Given the description of an element on the screen output the (x, y) to click on. 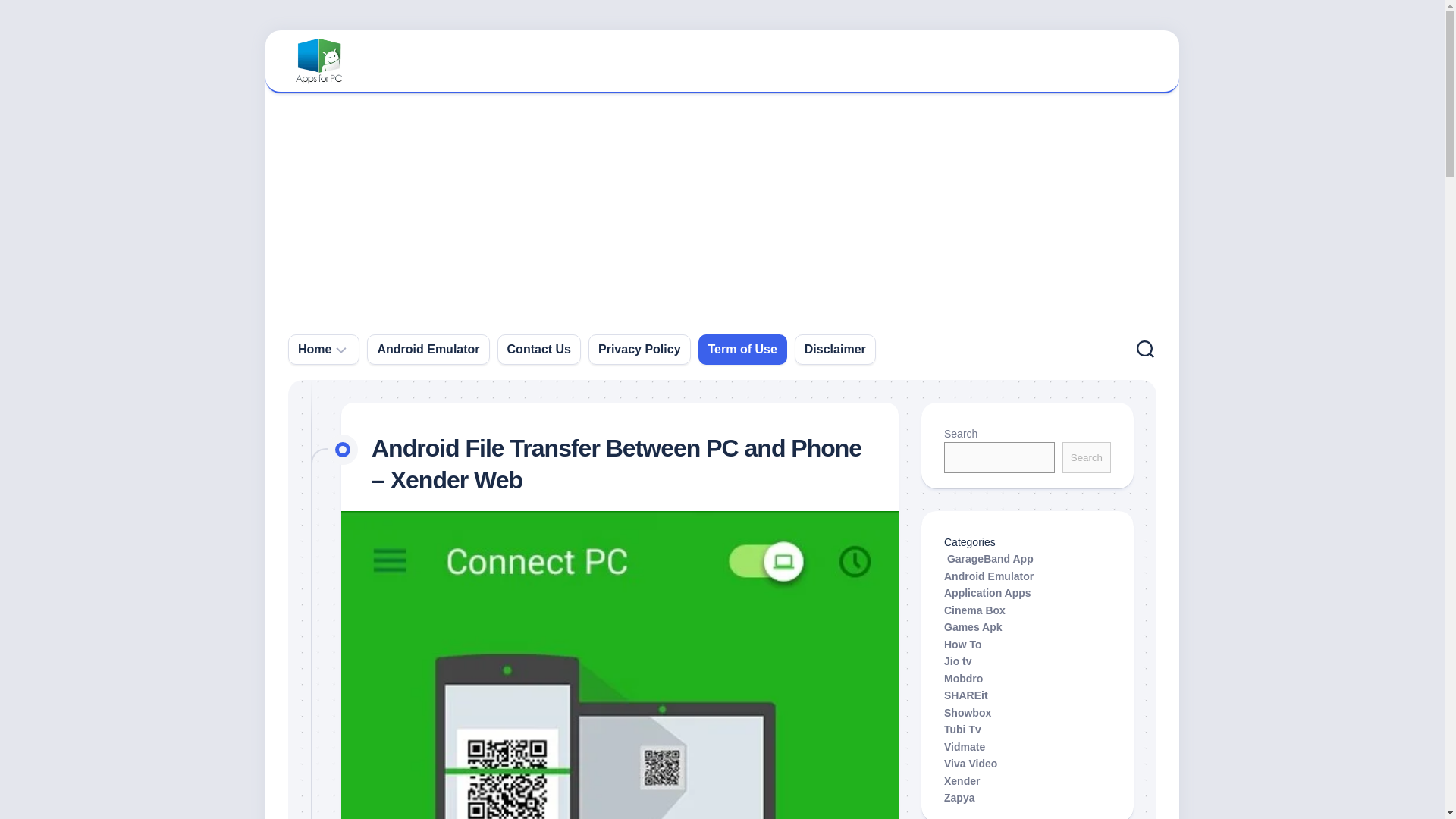
Android Emulator (428, 349)
Contact Us (538, 349)
Disclaimer (835, 349)
Term of Use (742, 349)
Home (314, 349)
Privacy Policy (639, 349)
